Given the description of an element on the screen output the (x, y) to click on. 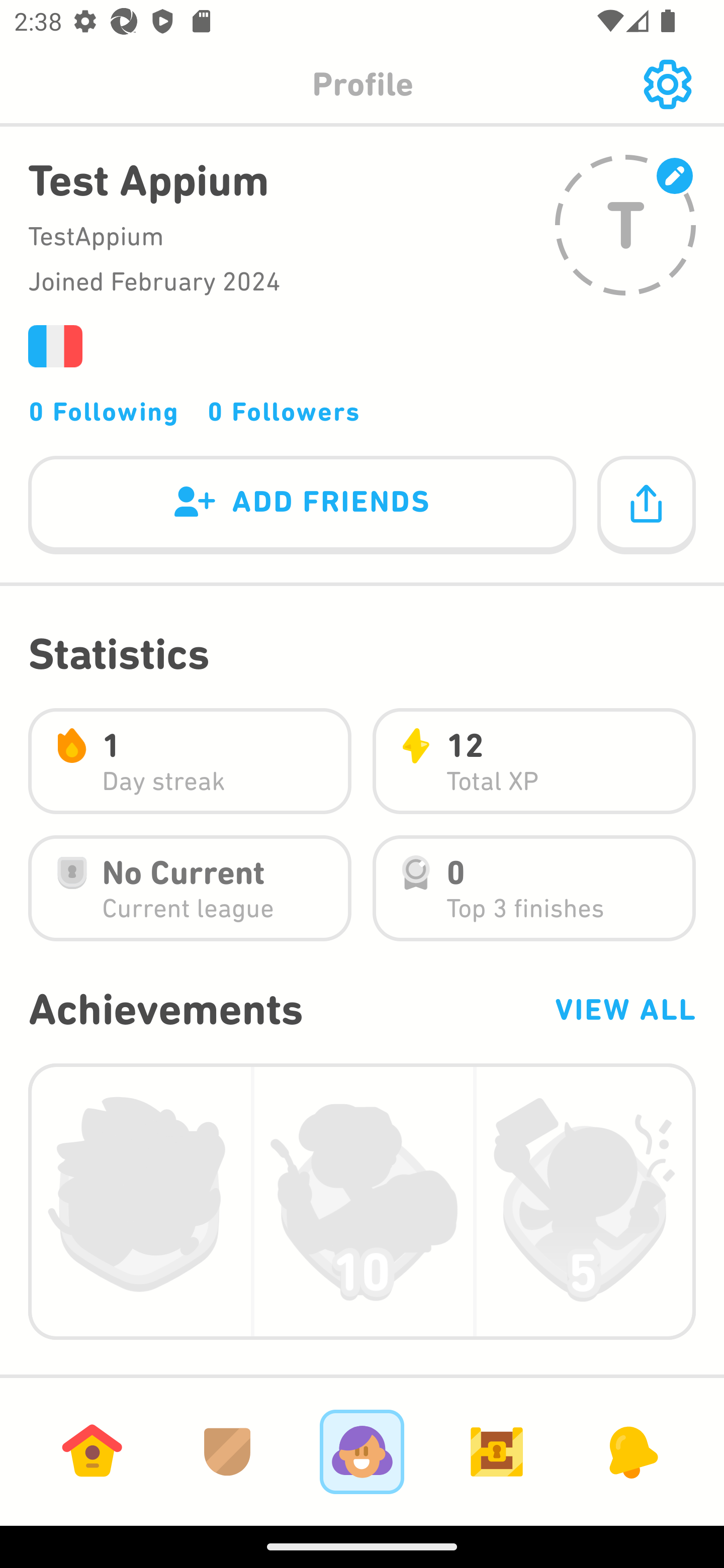
Settings (667, 84)
0 Following (103, 411)
0 Followers (283, 411)
ADD FRIENDS (302, 505)
1 Day streak (189, 760)
VIEW ALL (624, 1009)
Learn Tab (91, 1451)
Leagues Tab (227, 1451)
Profile Tab (361, 1451)
Goals Tab (496, 1451)
News Tab (631, 1451)
